Given the description of an element on the screen output the (x, y) to click on. 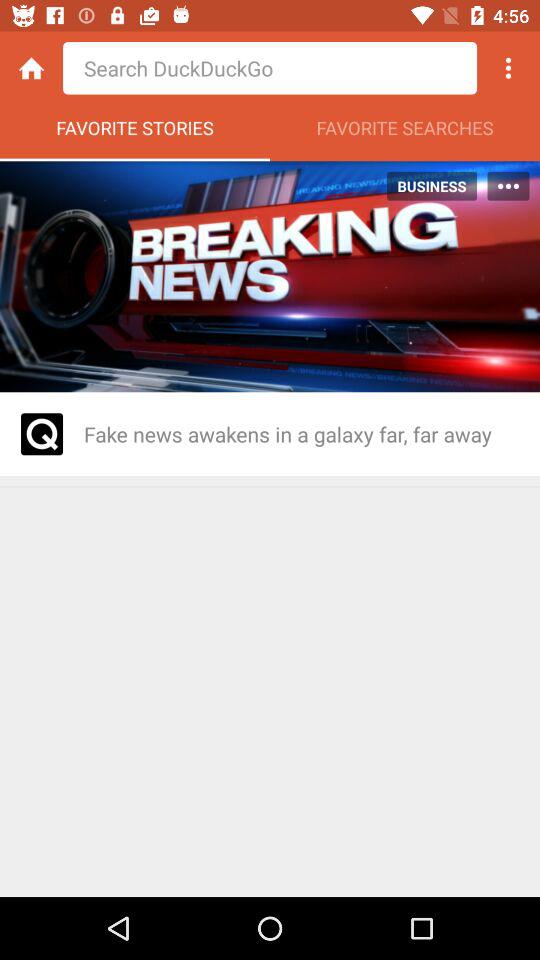
choose the app above favorite searches item (508, 68)
